Given the description of an element on the screen output the (x, y) to click on. 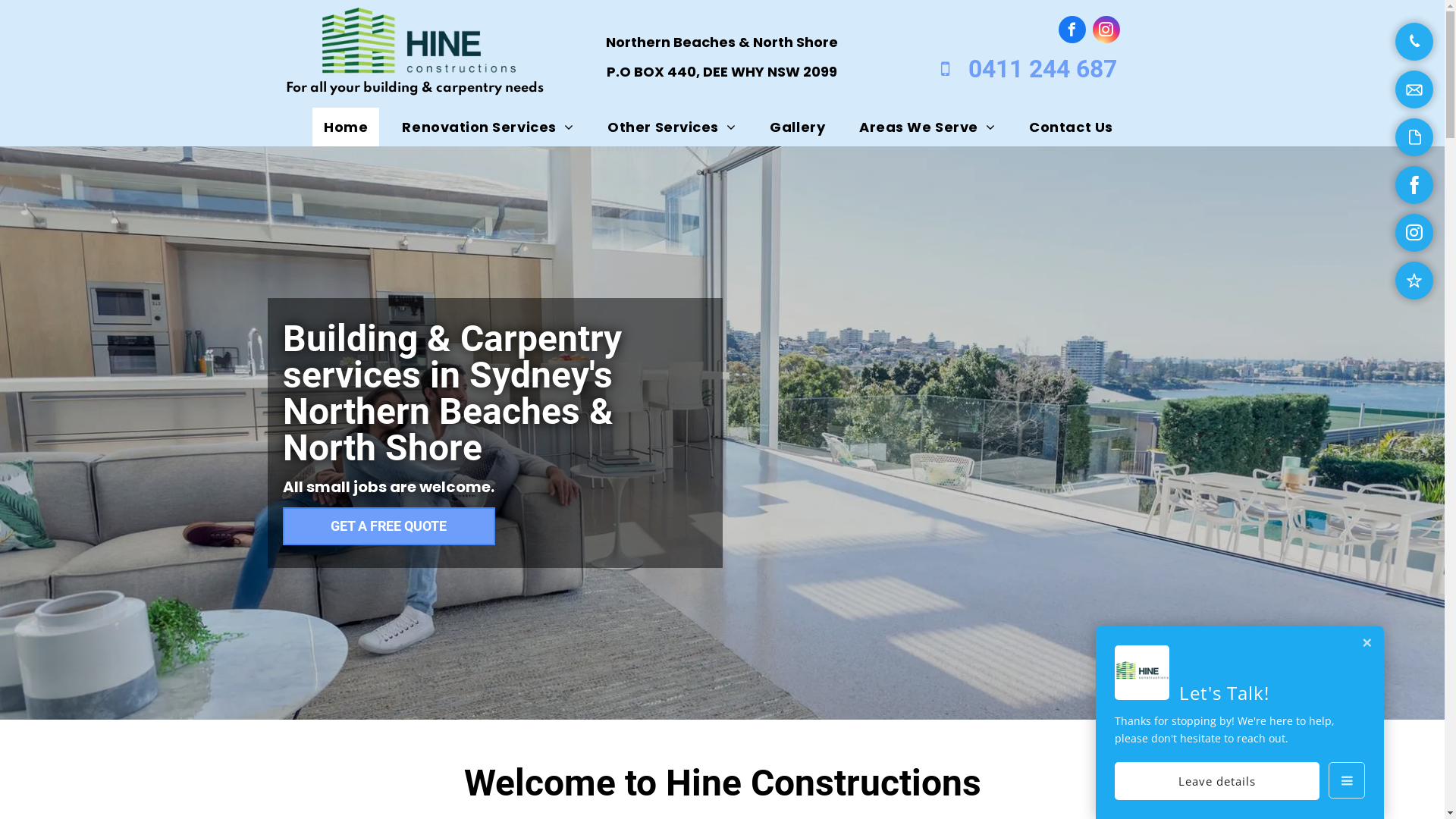
Renovation Services Element type: text (487, 126)
P.O BOX 440, DEE WHY NSW 2099 Element type: text (721, 71)
Areas We Serve Element type: text (926, 126)
GET A FREE QUOTE Element type: text (388, 526)
Gallery Element type: text (797, 126)
Contact Us Element type: text (1070, 126)
Other Services Element type: text (671, 126)
0411 244 687 Element type: text (1016, 69)
Leave details Element type: text (1216, 781)
Home Element type: text (345, 126)
